Given the description of an element on the screen output the (x, y) to click on. 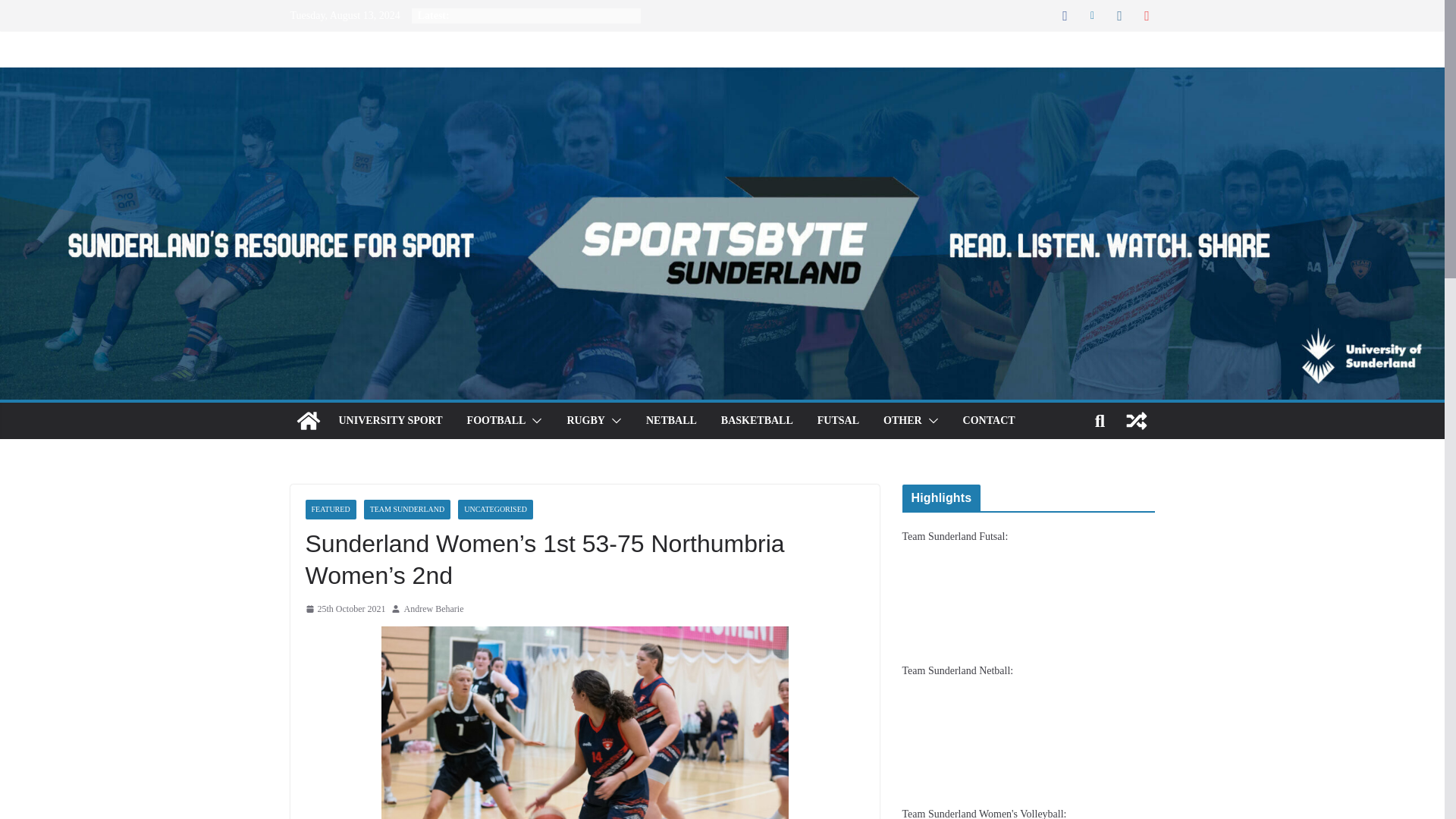
BASKETBALL (756, 420)
Andrew Beharie (433, 609)
FUTSAL (837, 420)
UNIVERSITY SPORT (389, 420)
SportsByte (307, 420)
FOOTBALL (496, 420)
3:09 pm (344, 609)
View a random post (1136, 420)
NETBALL (671, 420)
OTHER (902, 420)
